Given the description of an element on the screen output the (x, y) to click on. 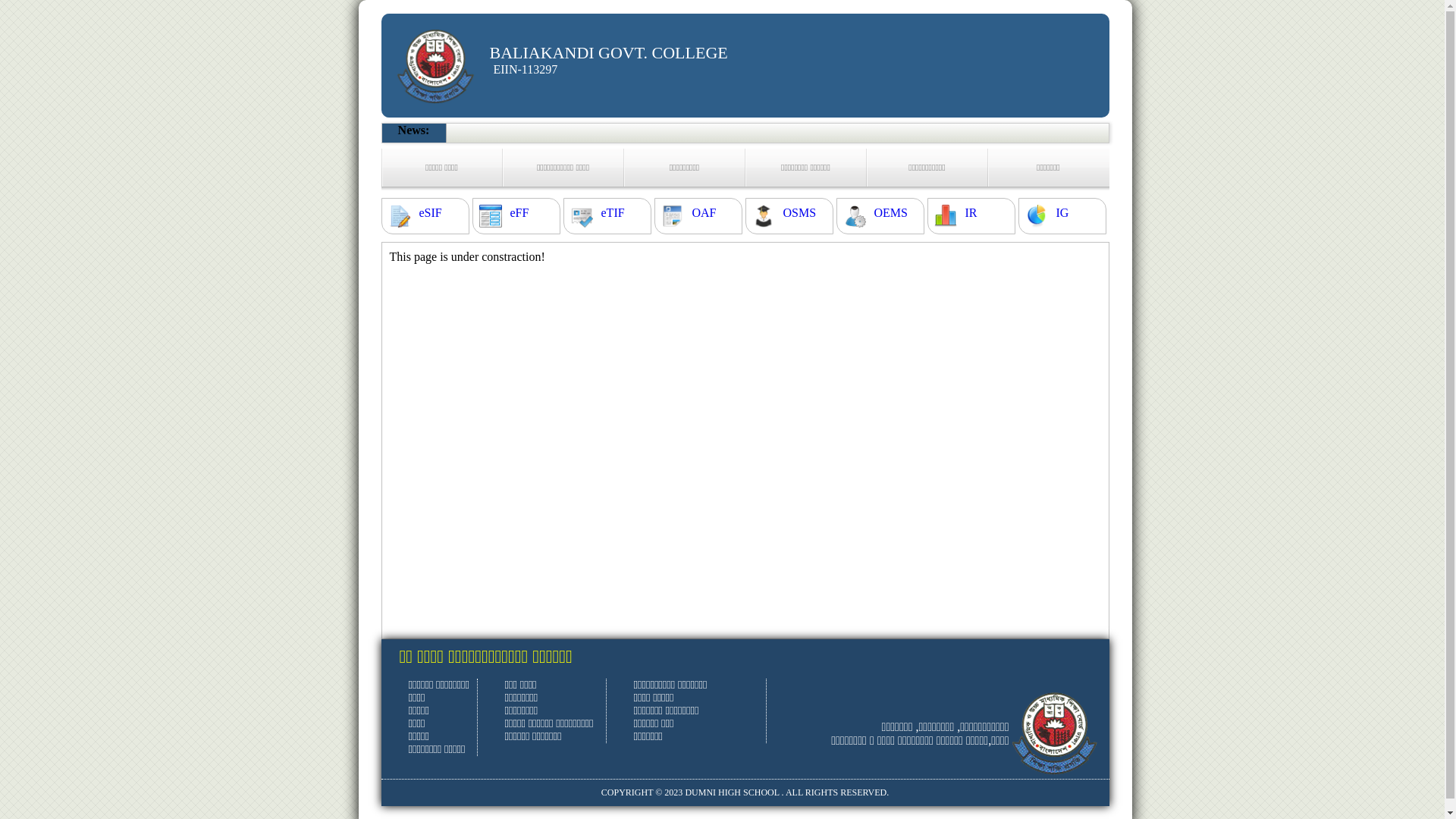
IG Element type: text (1061, 212)
eFF Element type: text (518, 212)
OAF Element type: text (703, 212)
eSIF Element type: text (429, 212)
OEMS Element type: text (889, 212)
DUMNI HIGH SCHOOL Element type: text (731, 792)
OSMS Element type: text (798, 212)
eTIF Element type: text (612, 212)
IR Element type: text (970, 212)
